Given the description of an element on the screen output the (x, y) to click on. 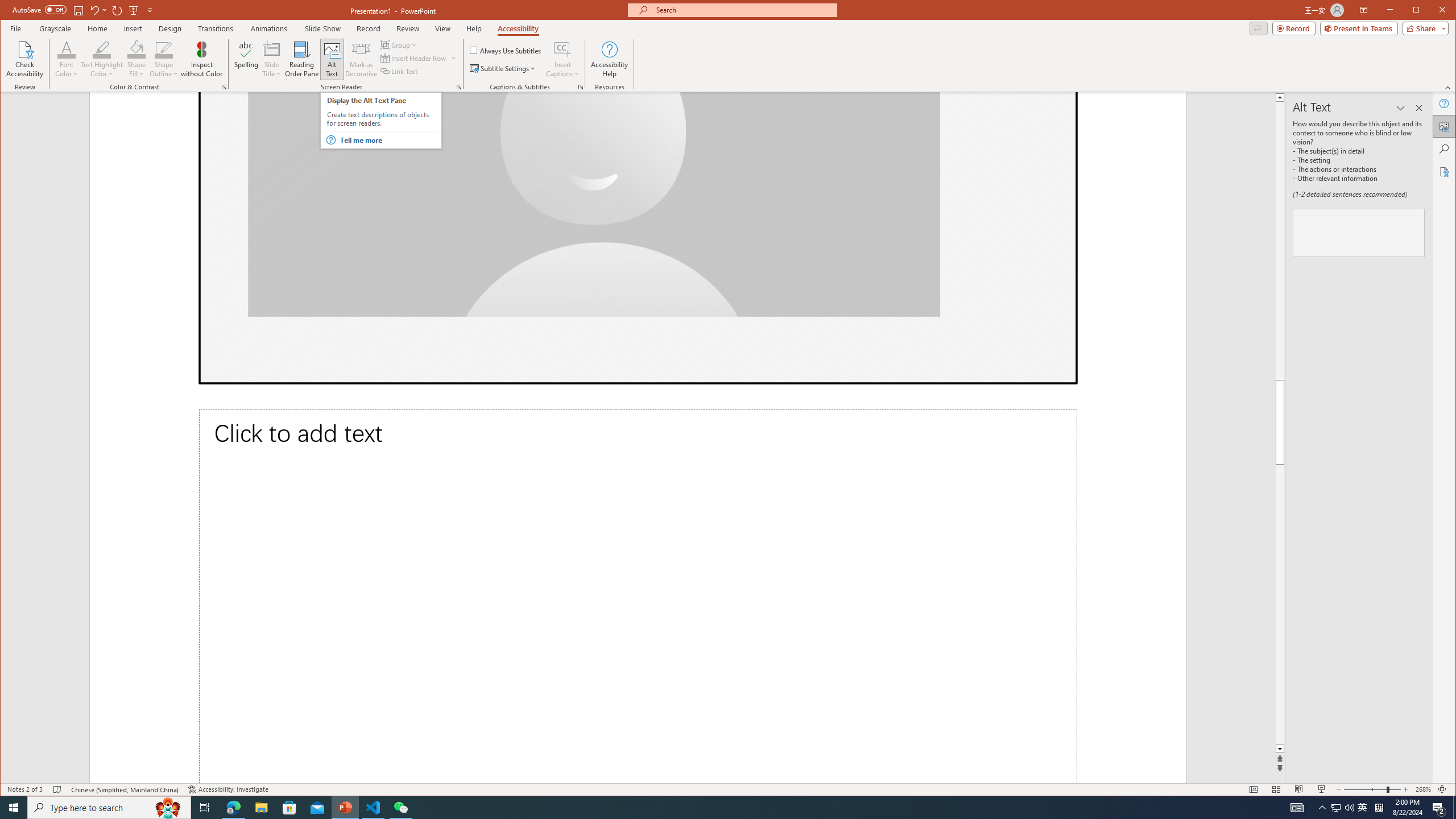
Captions & Subtitles (580, 86)
